Given the description of an element on the screen output the (x, y) to click on. 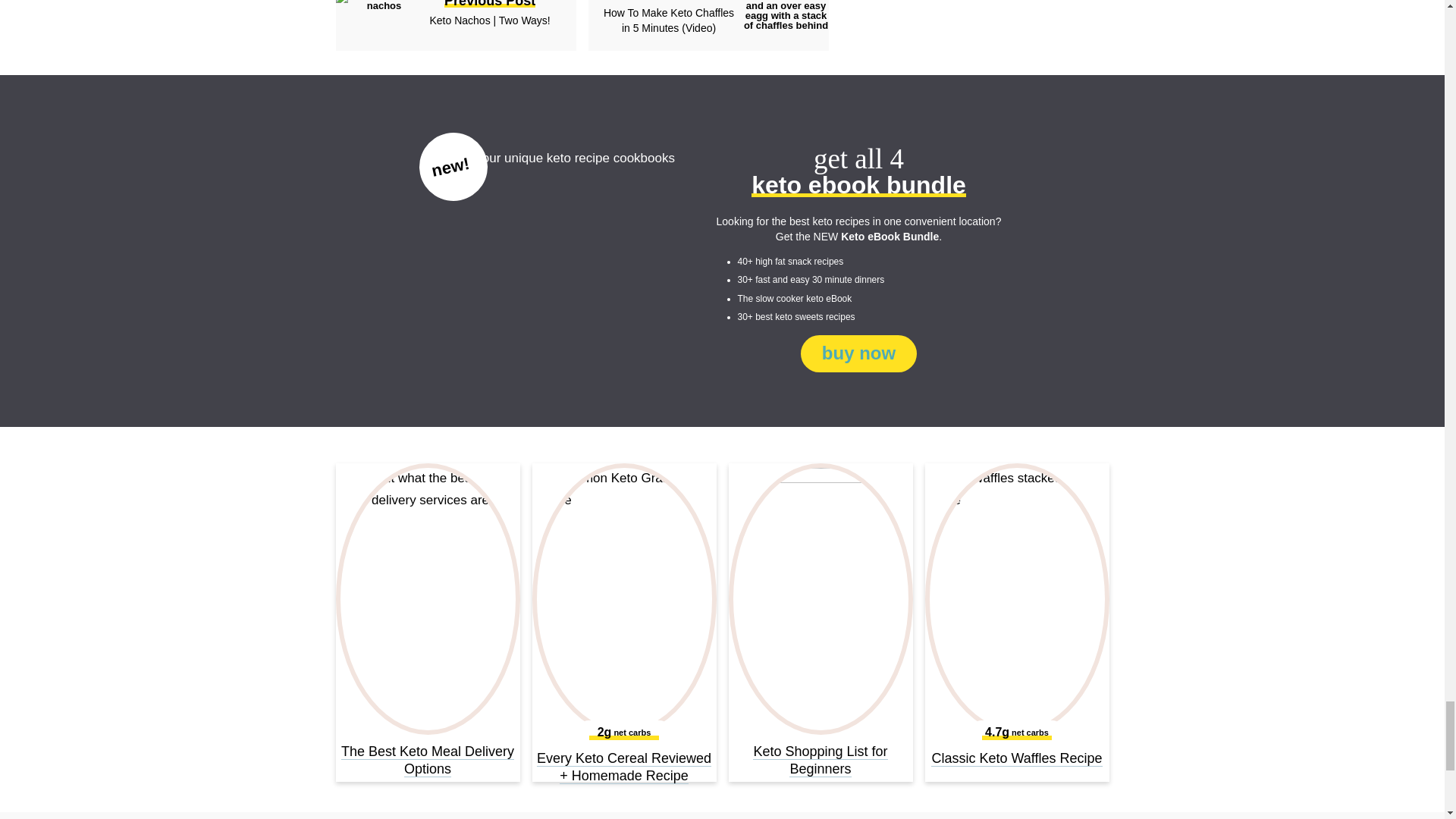
coconut flour cookies (377, 5)
